Given the description of an element on the screen output the (x, y) to click on. 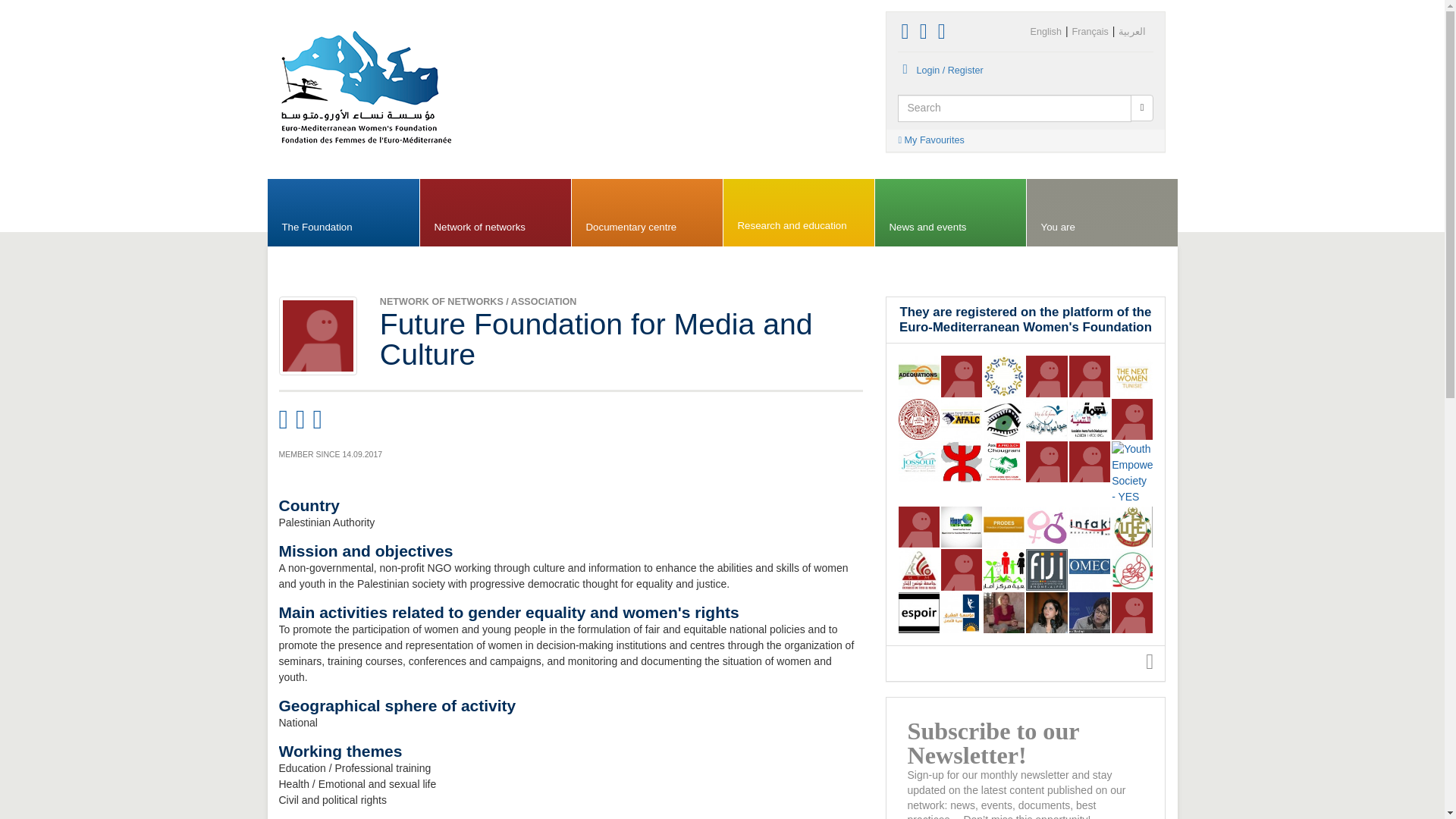
English (1045, 32)
You are (1101, 213)
Documentary centre (647, 213)
Network of networks (495, 213)
News and events (950, 213)
The Foundation (342, 213)
Research and education (799, 213)
My Favourites (1024, 139)
